Given the description of an element on the screen output the (x, y) to click on. 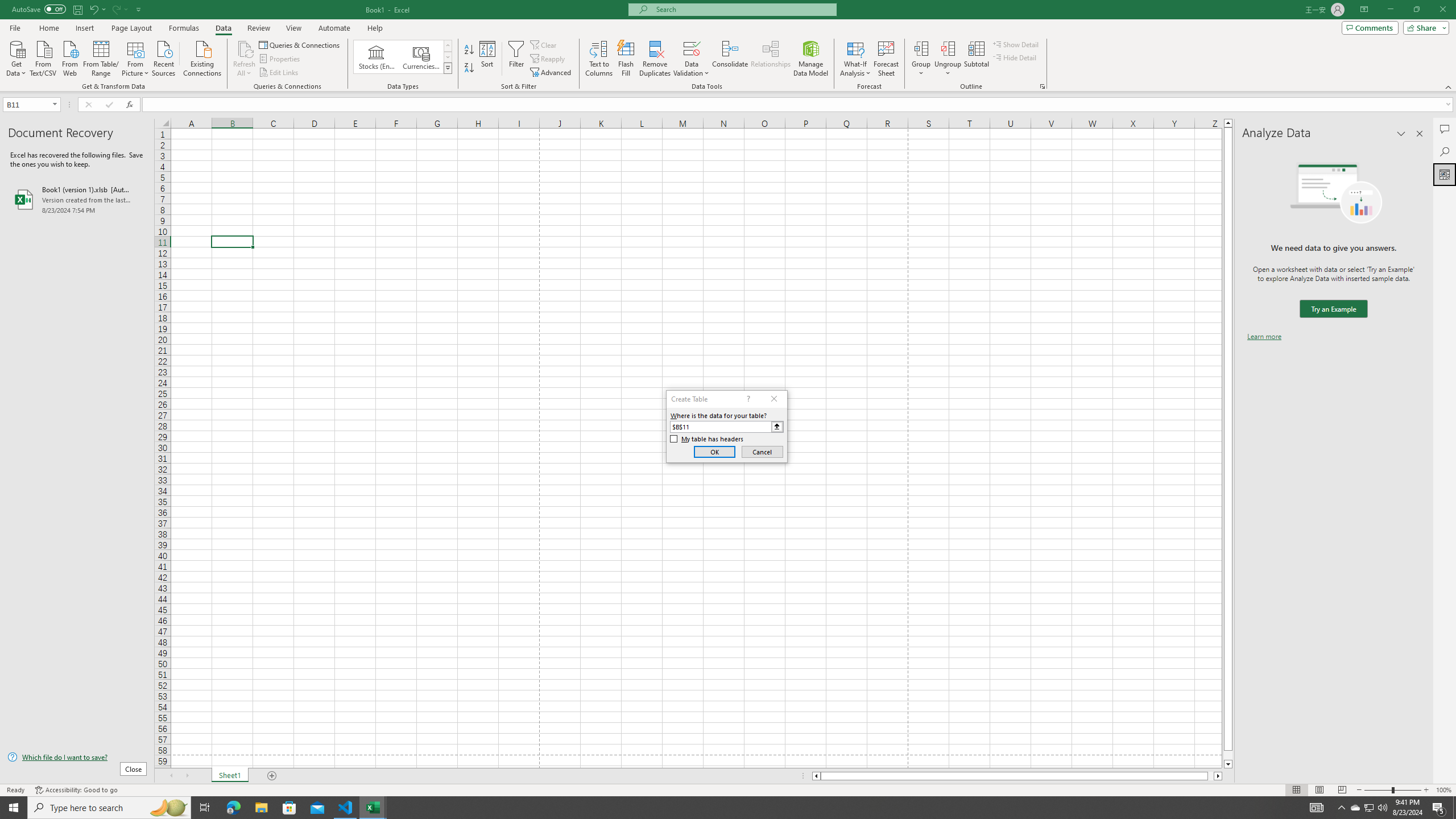
Sort Z to A (469, 67)
Flash Fill (625, 58)
Existing Connections (202, 57)
Sort A to Z (469, 49)
Refresh All (244, 48)
Manage Data Model (810, 58)
Task Pane Options (1400, 133)
We need data to give you answers. Try an Example (1333, 308)
